Given the description of an element on the screen output the (x, y) to click on. 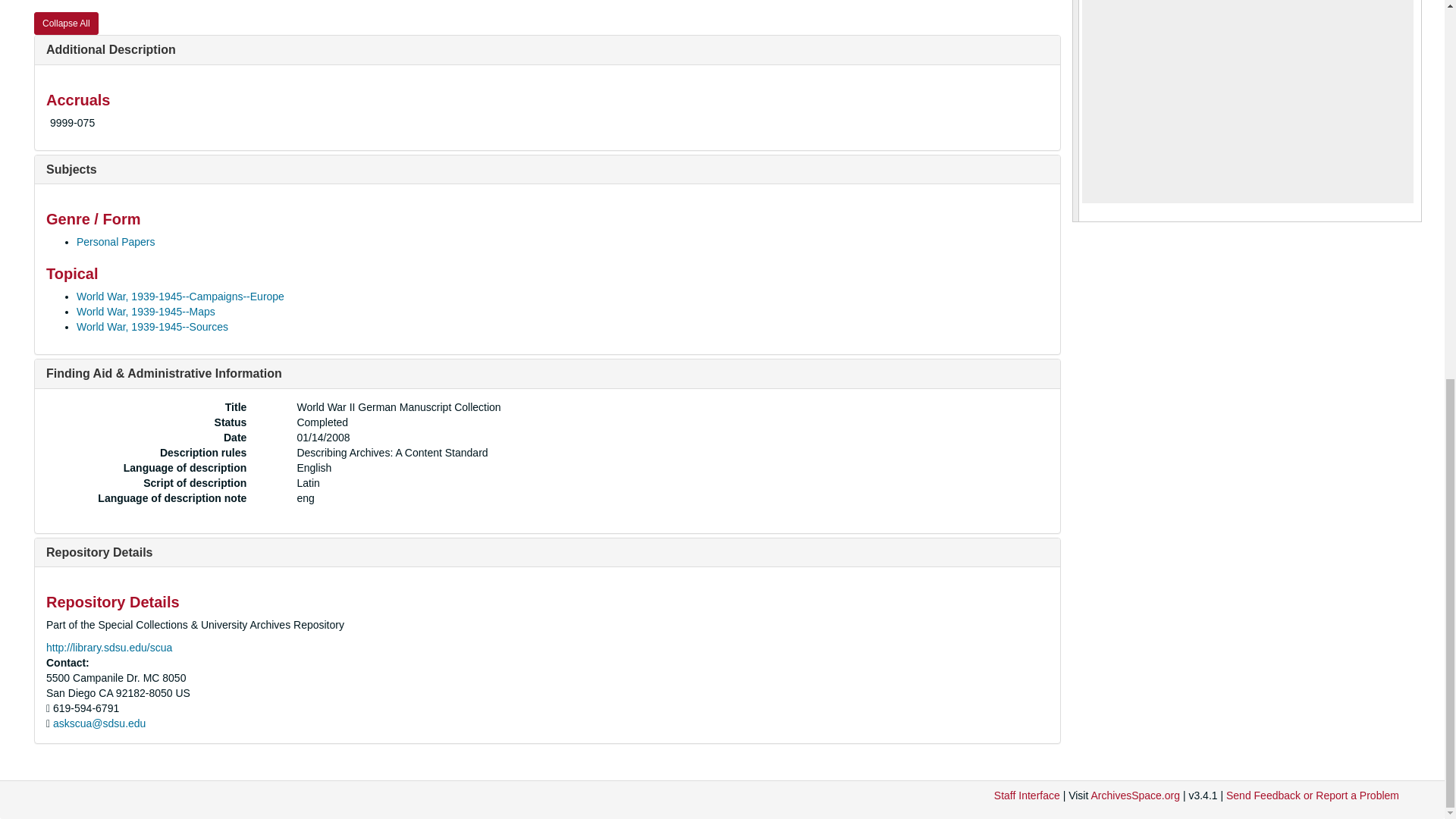
Repository Details (99, 552)
Send email (98, 723)
World War, 1939-1945--Sources (152, 326)
Personal Papers (116, 241)
Subjects (71, 169)
Collapse All (66, 23)
World War, 1939-1945--Campaigns--Europe (180, 296)
World War, 1939-1945--Maps (146, 311)
Additional Description (111, 49)
